Given the description of an element on the screen output the (x, y) to click on. 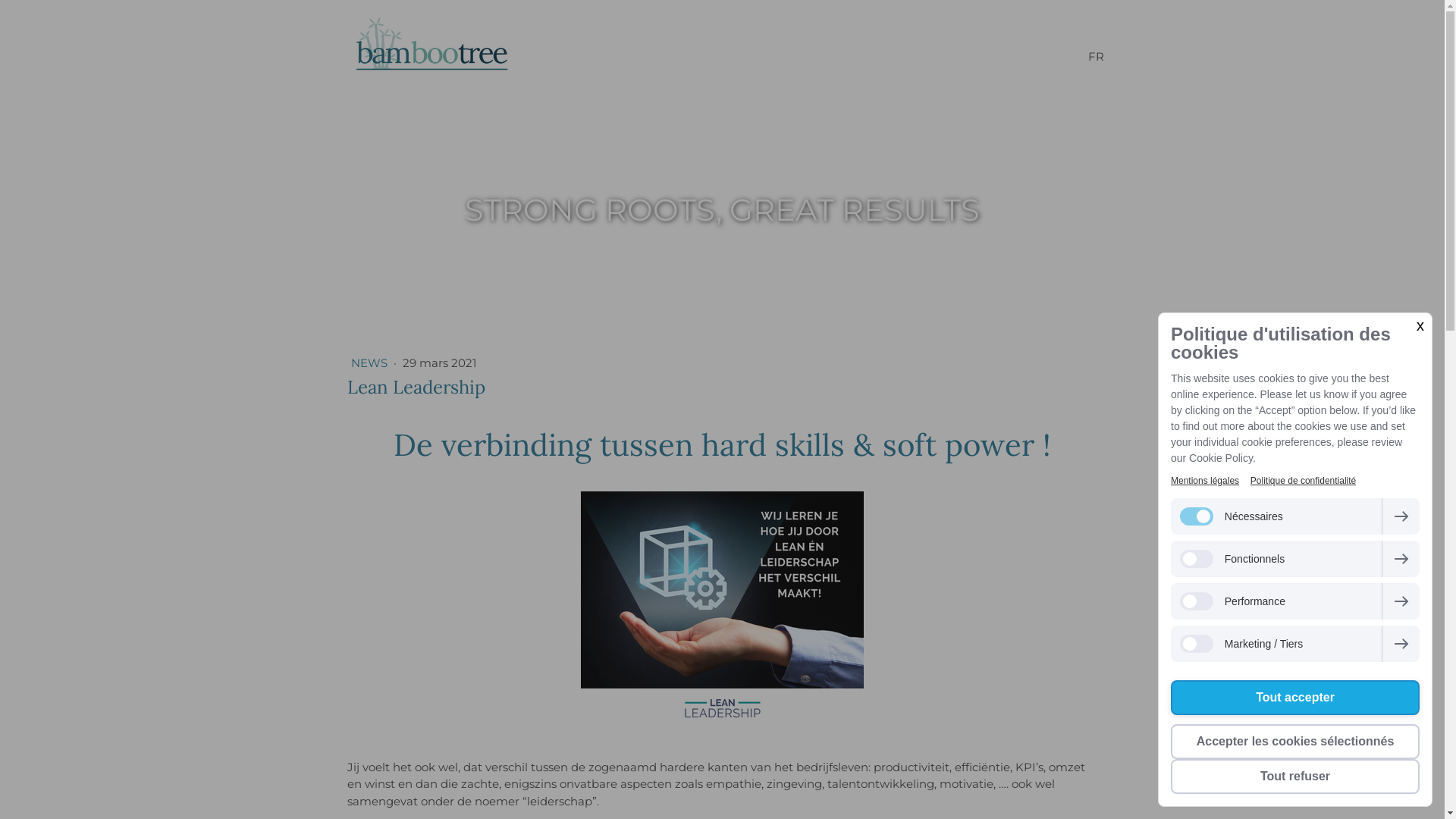
Tout refuser Element type: text (1294, 776)
STRONG ROOTS, GREAT RESULTS Element type: text (721, 209)
FR Element type: text (1095, 56)
NEWS Element type: text (369, 362)
Tout accepter Element type: text (1294, 697)
